Given the description of an element on the screen output the (x, y) to click on. 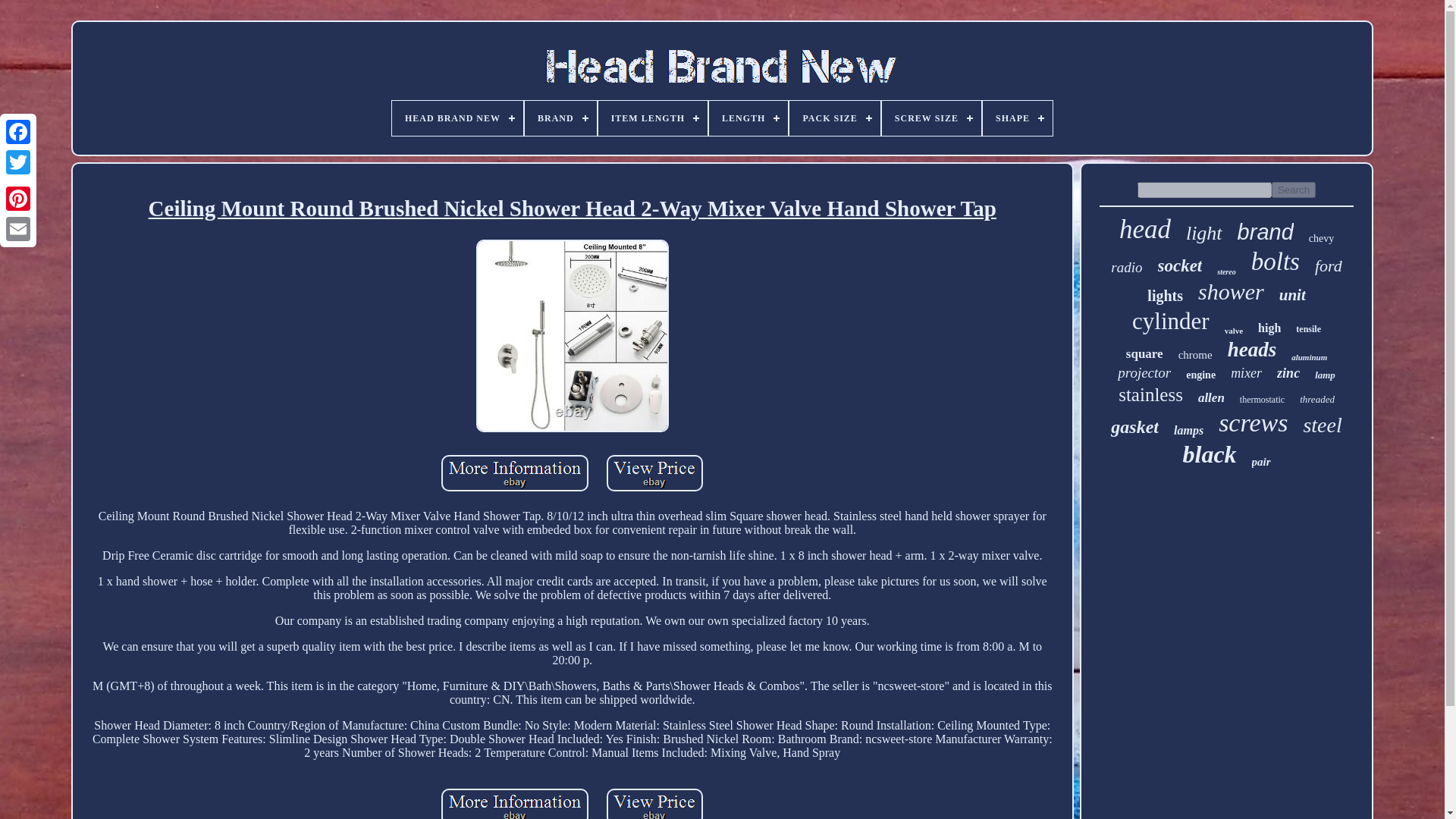
HEAD BRAND NEW (456, 117)
BRAND (560, 117)
Search (1293, 189)
ITEM LENGTH (652, 117)
Twitter (17, 162)
